Given the description of an element on the screen output the (x, y) to click on. 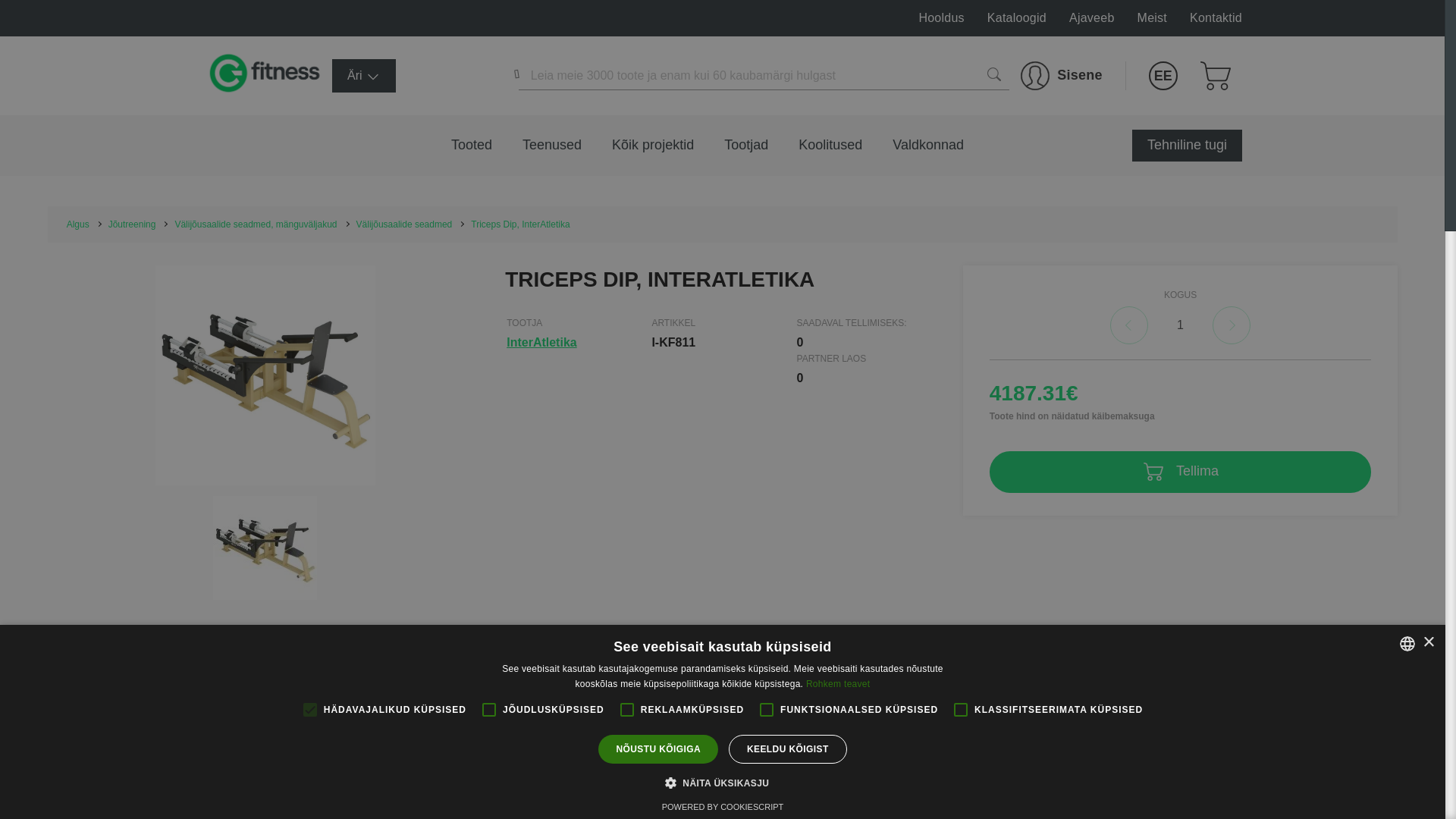
Ostukorv (1214, 75)
Meist (1152, 17)
Hooldus (940, 17)
Kontaktid (1215, 17)
Hooldus (940, 17)
Sisene (1061, 75)
Estonian (1162, 75)
Gfitness (267, 75)
Ajaveeb (1091, 17)
Kontaktid (1215, 17)
Kataloogid (1016, 17)
Sisene (1061, 75)
Meist (1152, 17)
Kataloogid (1016, 17)
EE (1162, 75)
